Given the description of an element on the screen output the (x, y) to click on. 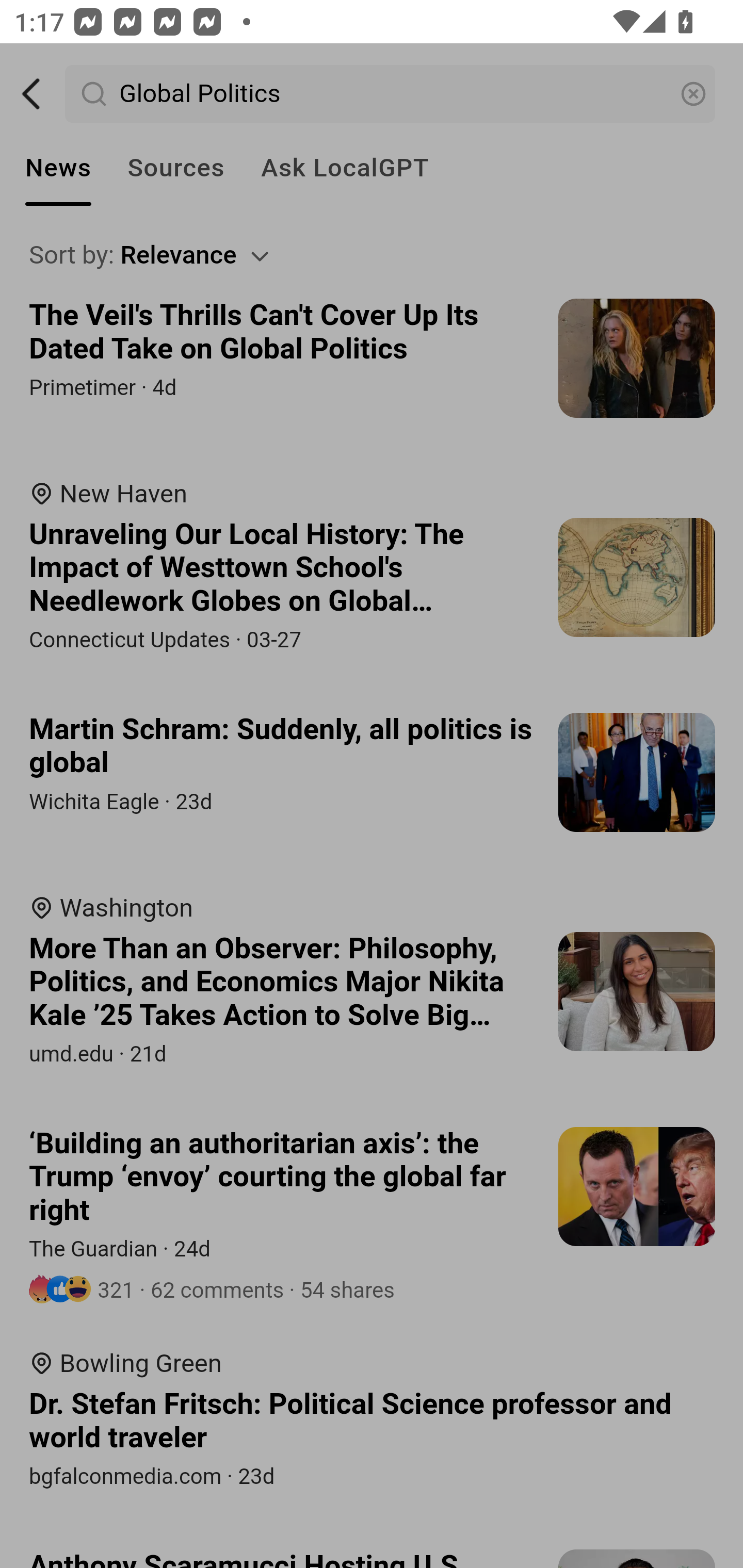
Global Politics (390, 93)
News (58, 168)
Sources (175, 168)
Ask LocalGPT (344, 168)
Sort by:  Relevance (372, 254)
